Given the description of an element on the screen output the (x, y) to click on. 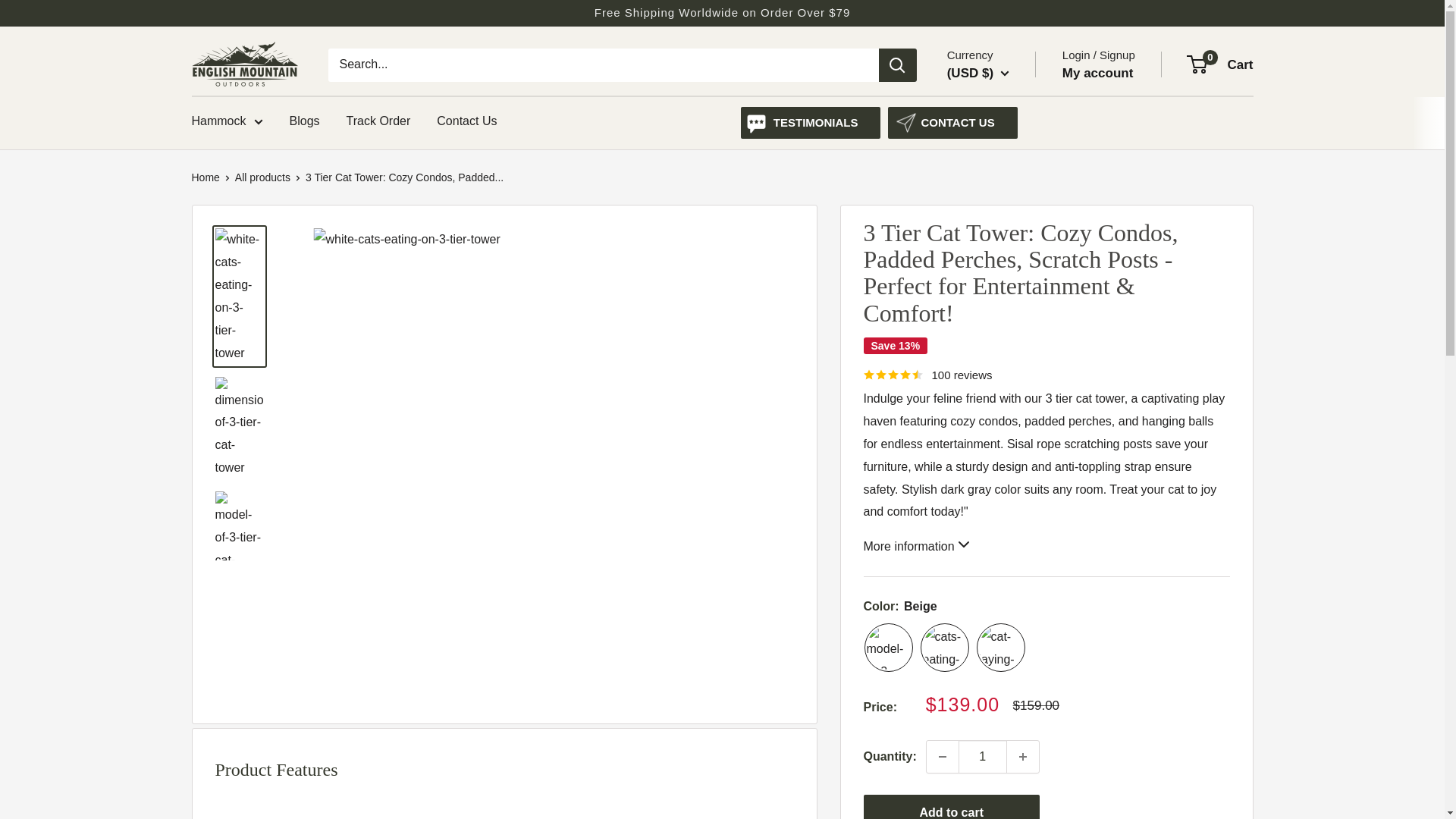
1 (982, 757)
Beige (888, 647)
Black (944, 647)
Light Grey (1000, 647)
Increase quantity by 1 (1023, 757)
Decrease quantity by 1 (942, 757)
